Given the description of an element on the screen output the (x, y) to click on. 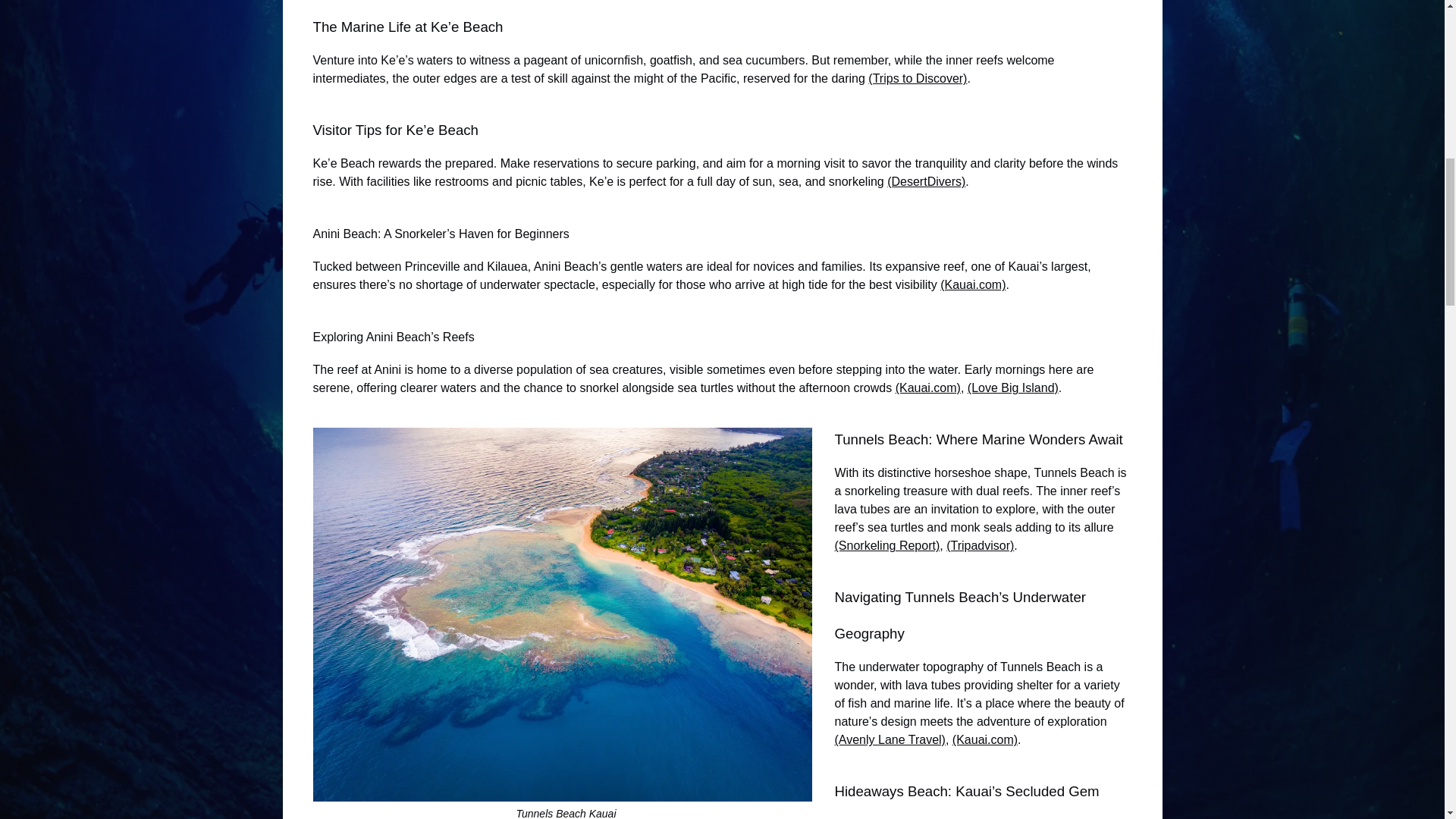
FareHarbor (1342, 64)
